Given the description of an element on the screen output the (x, y) to click on. 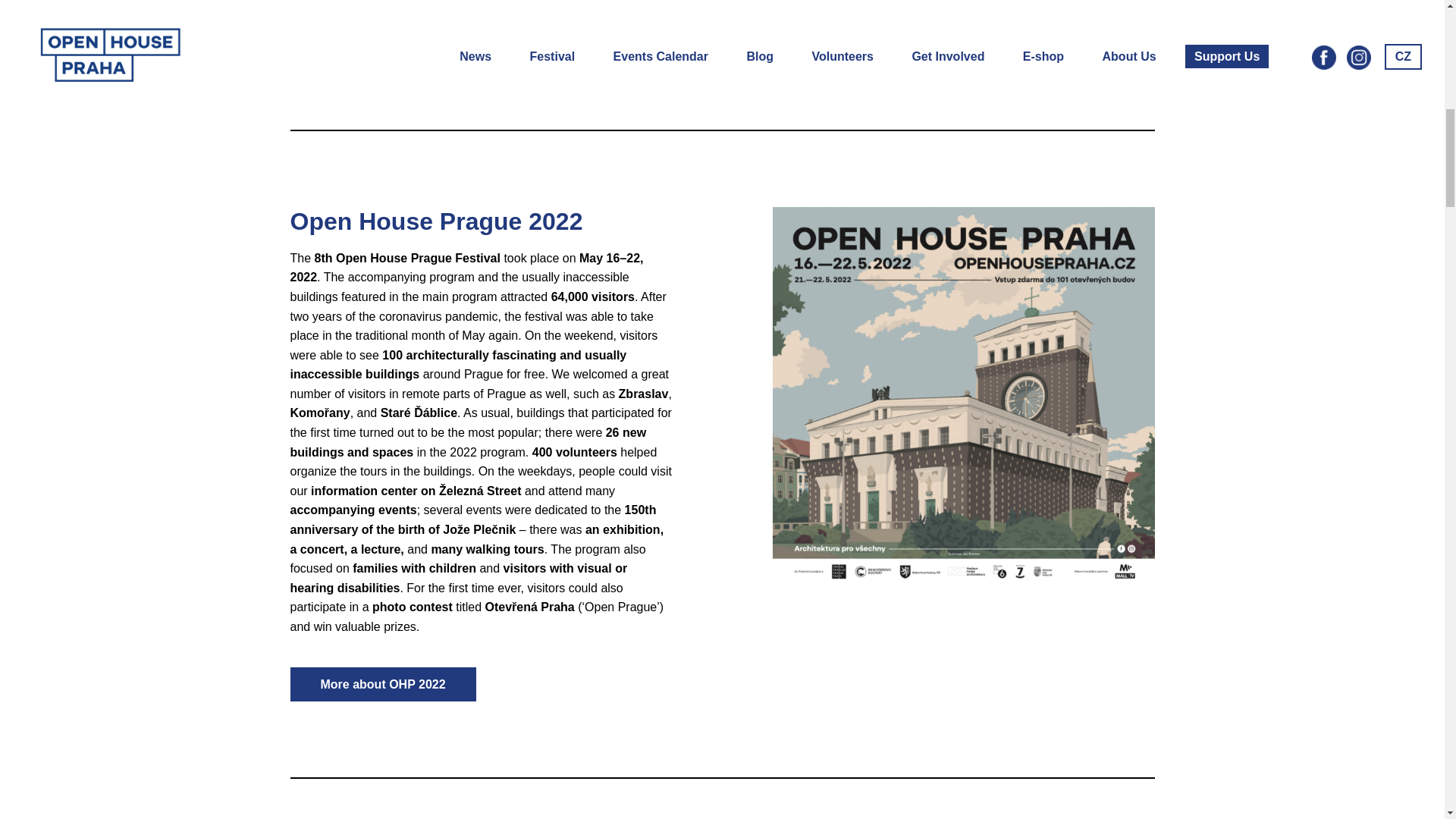
More about OHP 2023 (864, 36)
More about OHP 2022 (382, 684)
